Given the description of an element on the screen output the (x, y) to click on. 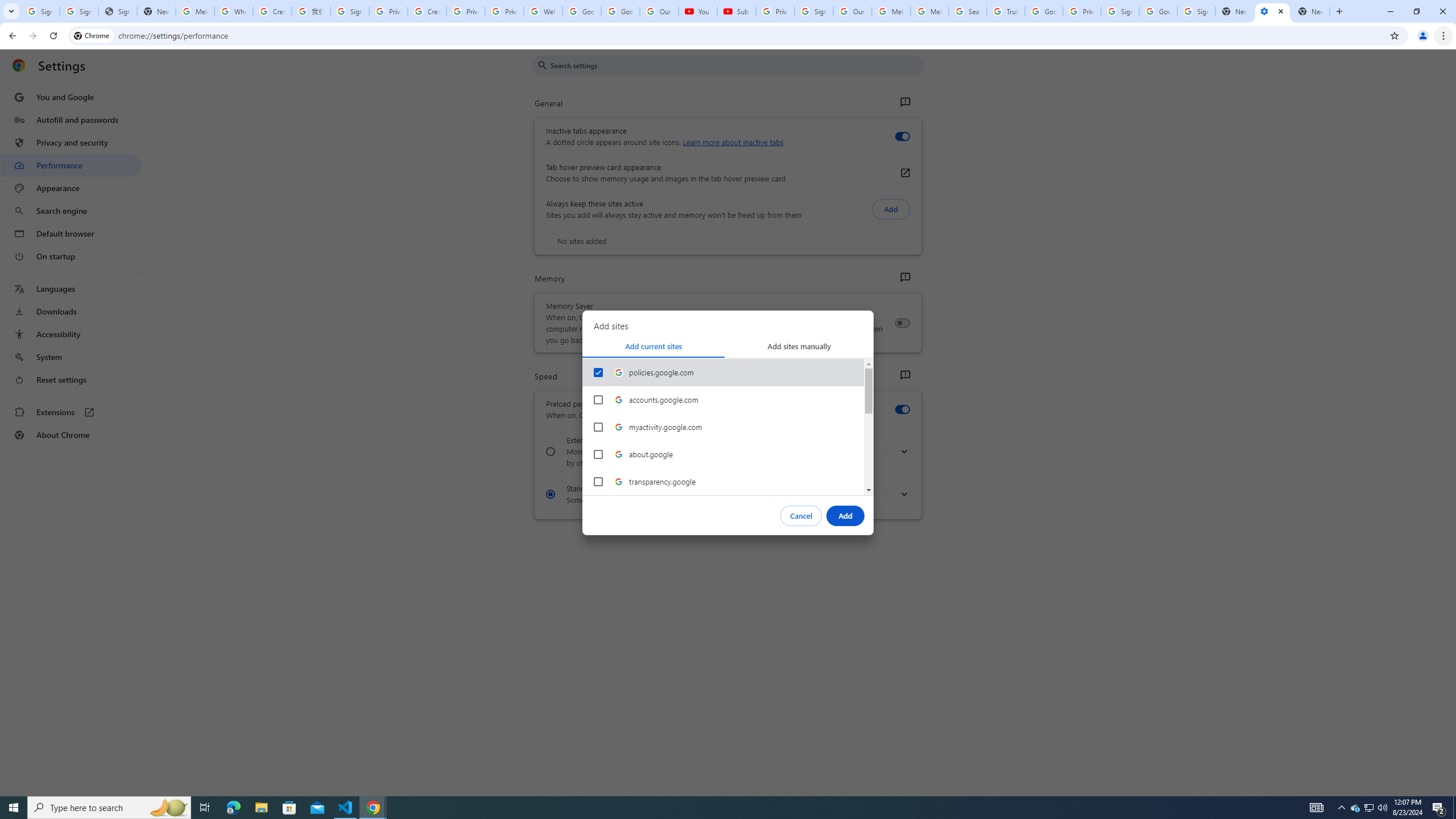
YouTube (697, 11)
Sign in - Google Accounts (1120, 11)
Google Cybersecurity Innovations - Google Safety Center (1158, 11)
Create your Google Account (427, 11)
policies.google.com (722, 372)
